Given the description of an element on the screen output the (x, y) to click on. 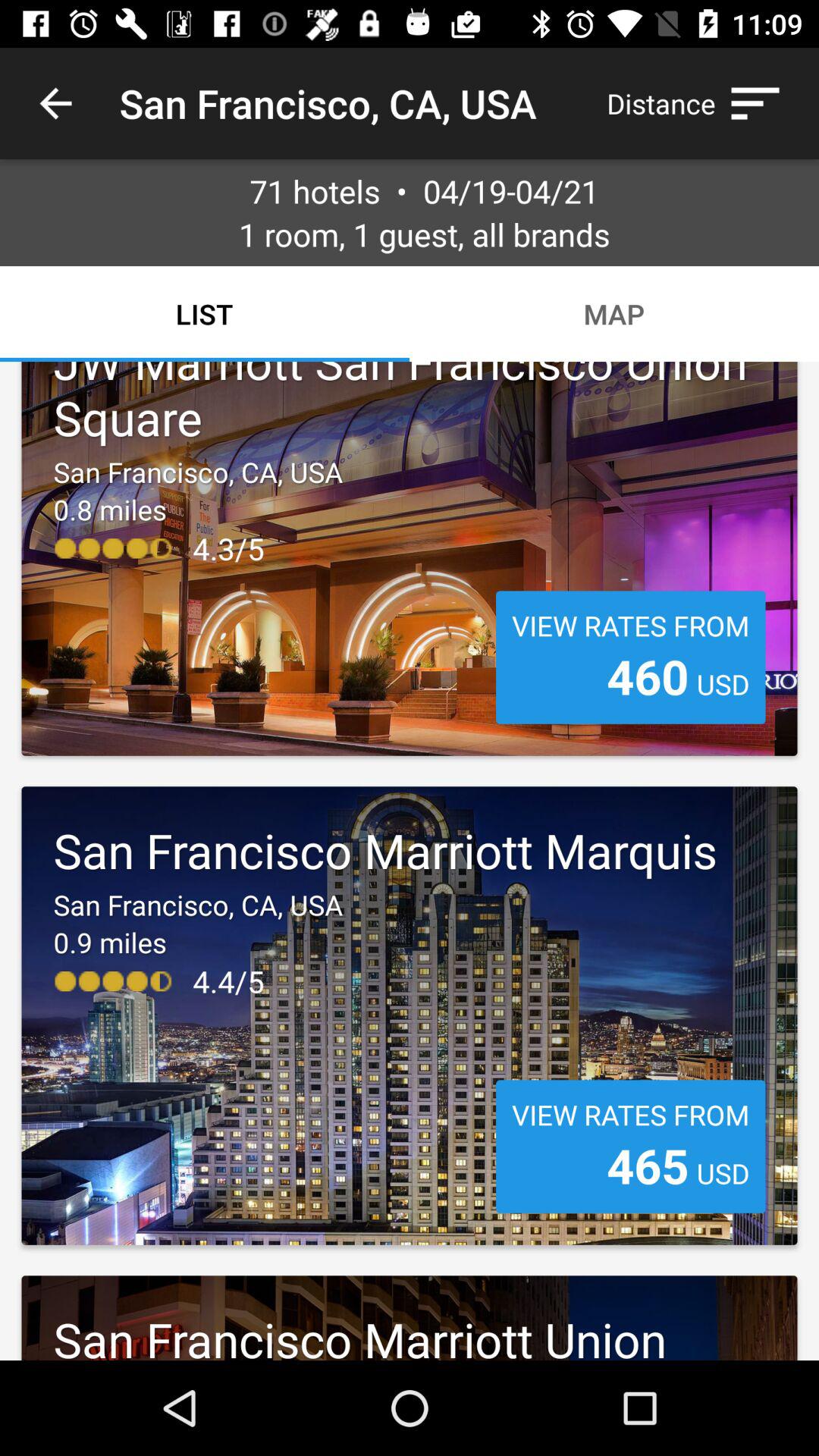
tap icon next to san francisco ca item (55, 103)
